Given the description of an element on the screen output the (x, y) to click on. 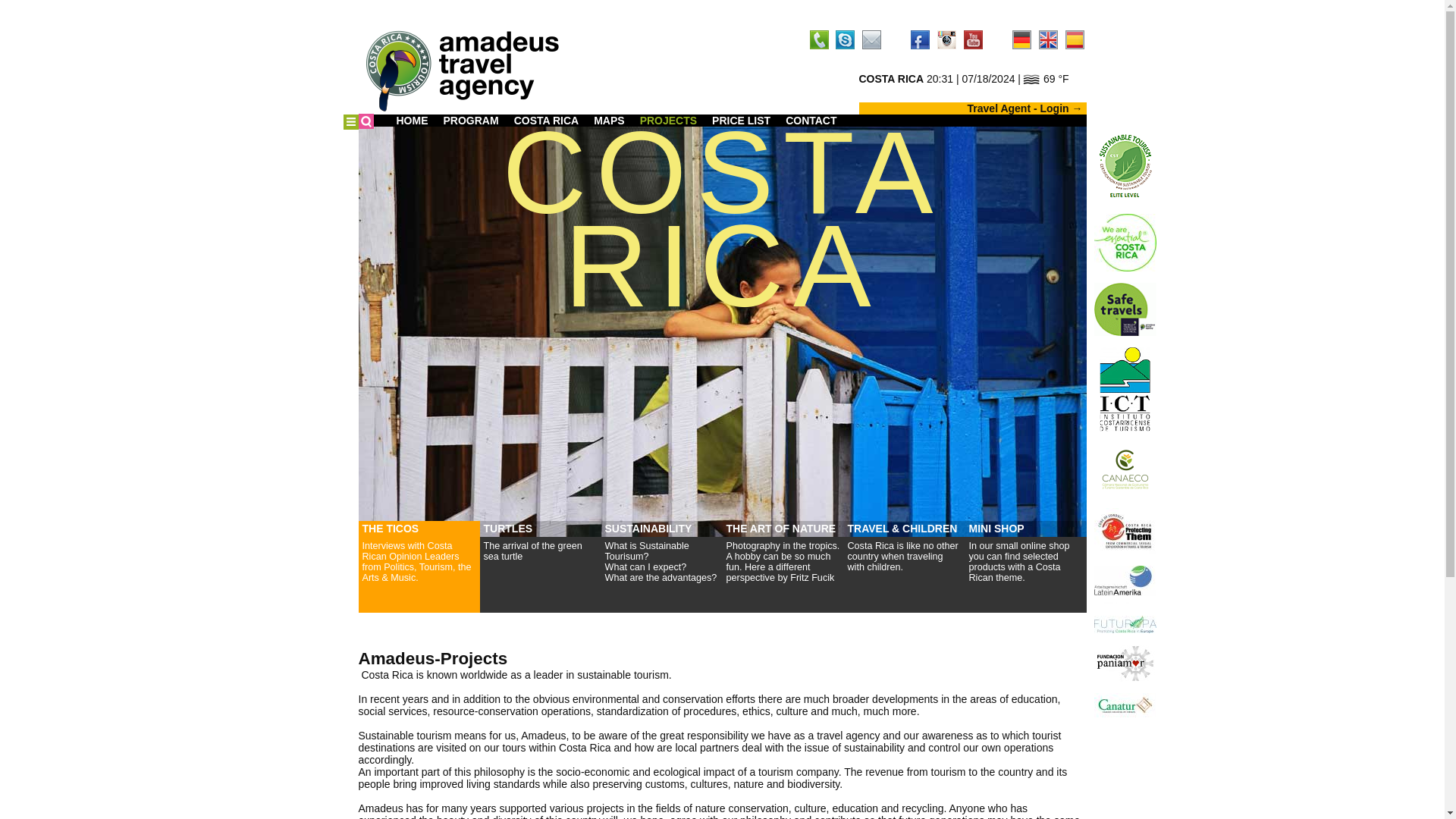
Futuropa (1124, 624)
Protect children from sex tourism (1124, 530)
Canatur (1124, 704)
Safe Travels (1124, 308)
National Chamber for Ecotourism (1124, 469)
PROGRAM (470, 120)
Esential Costa Rica (1124, 242)
Arbeitsgemeinschaft Lateinamerika! (1124, 584)
HOME (411, 120)
